Given the description of an element on the screen output the (x, y) to click on. 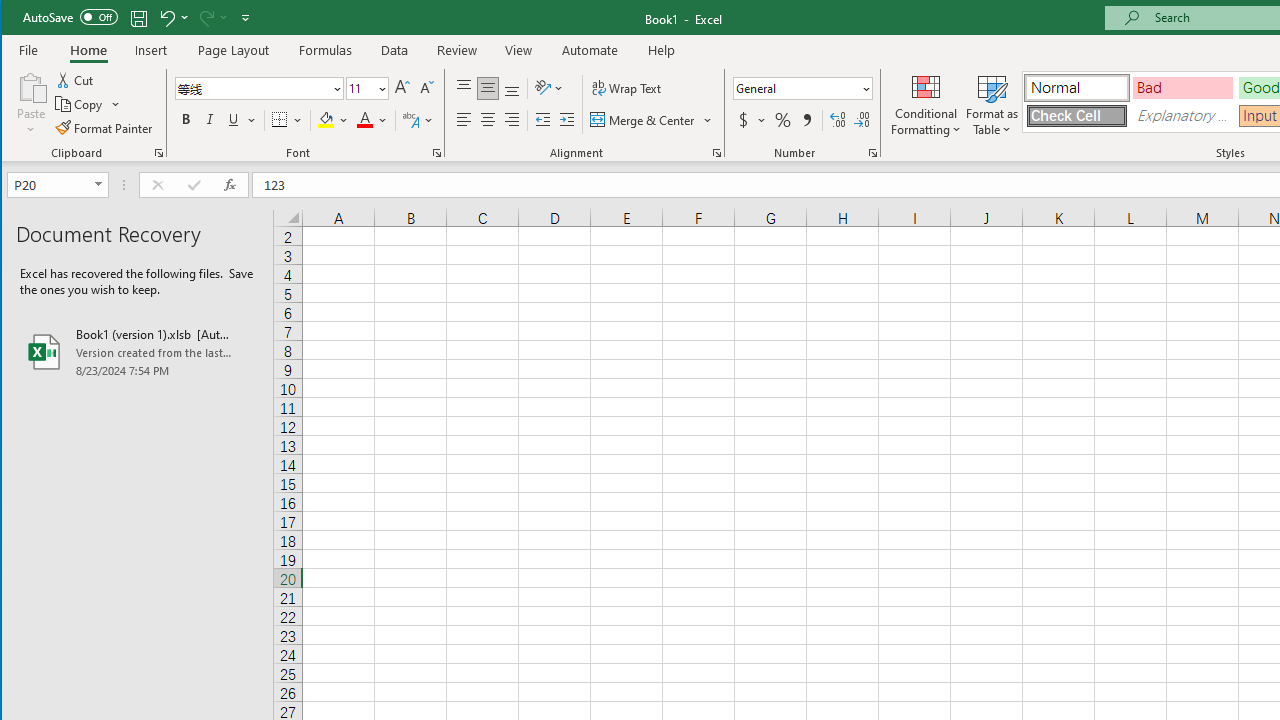
Underline (233, 119)
Font (253, 88)
Merge & Center (644, 119)
Top Align (463, 88)
Show Phonetic Field (410, 119)
Copy (88, 103)
Bad (1183, 88)
Check Cell (1077, 116)
Decrease Font Size (425, 88)
Increase Indent (566, 119)
